Given the description of an element on the screen output the (x, y) to click on. 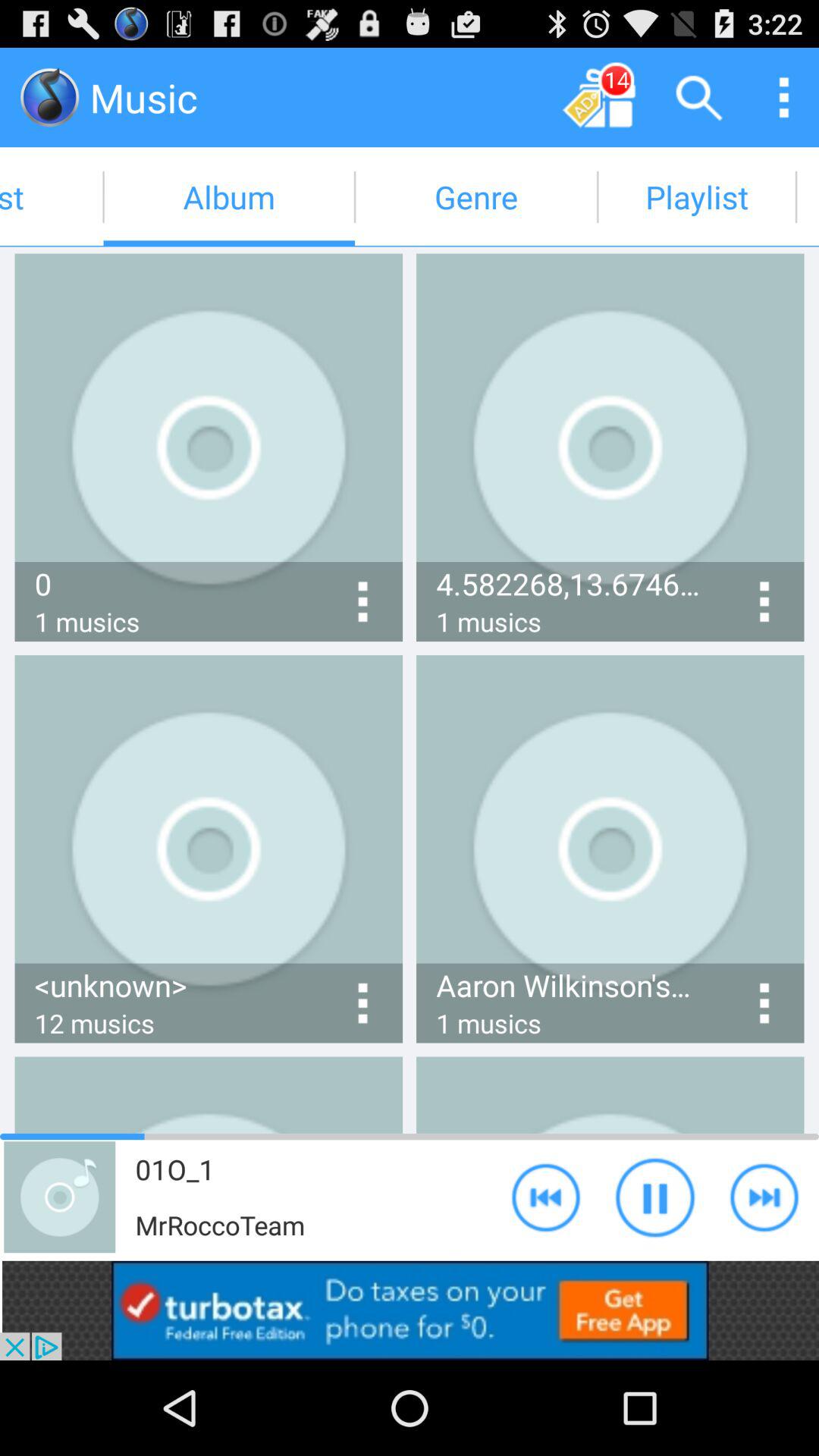
open main manu (784, 97)
